Given the description of an element on the screen output the (x, y) to click on. 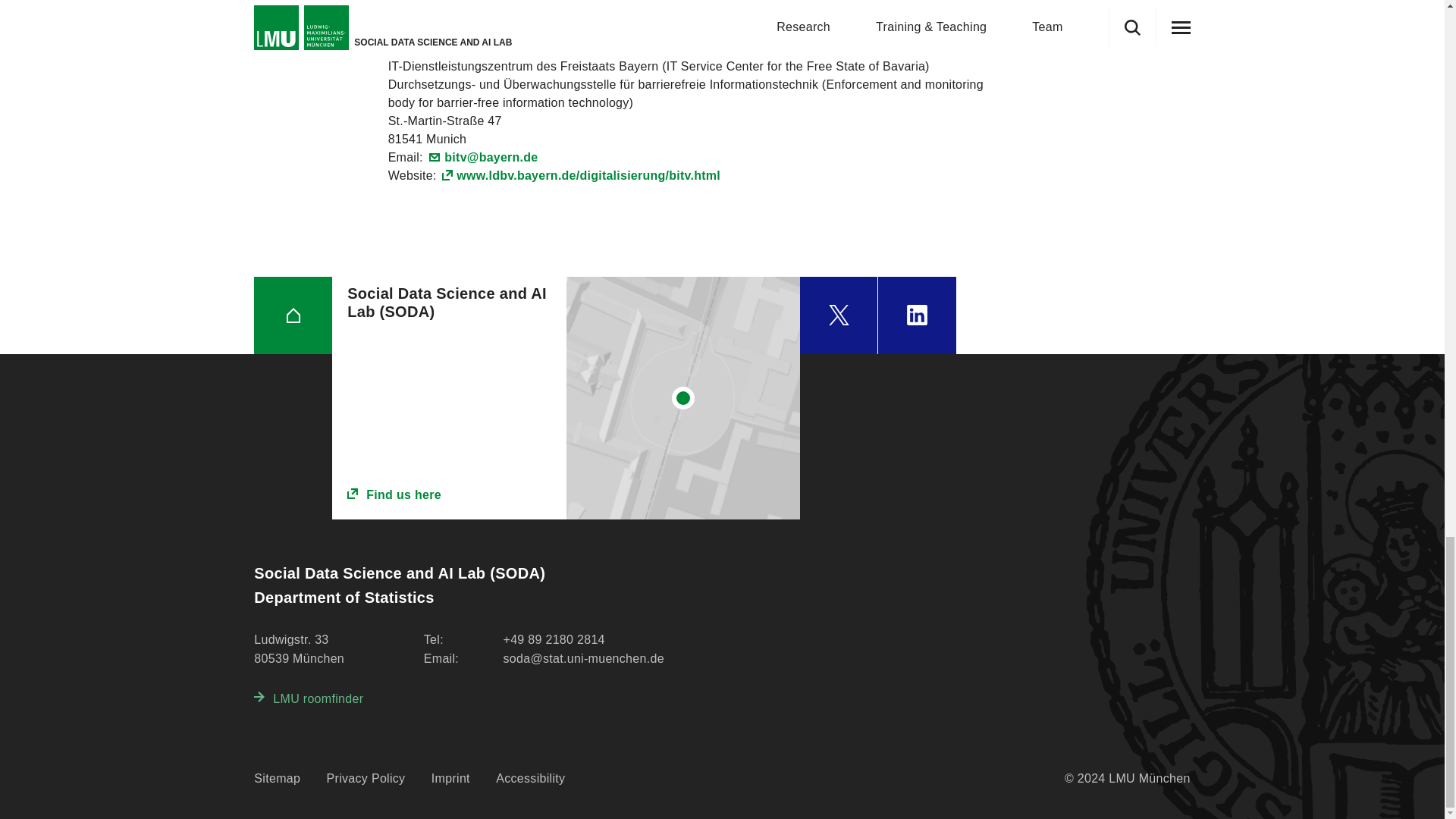
LMU roomfinder (307, 699)
Accessibility (530, 778)
Find us here (449, 495)
Twitter-Link opens in a new window (838, 315)
LinkedIn (916, 315)
Sitemap (276, 778)
Imprint (450, 778)
Privacy Policy (366, 778)
Twitter (838, 315)
Plan section LMU main building (683, 397)
Home (292, 315)
LinkedIn-Link opens in a new window (916, 315)
